Given the description of an element on the screen output the (x, y) to click on. 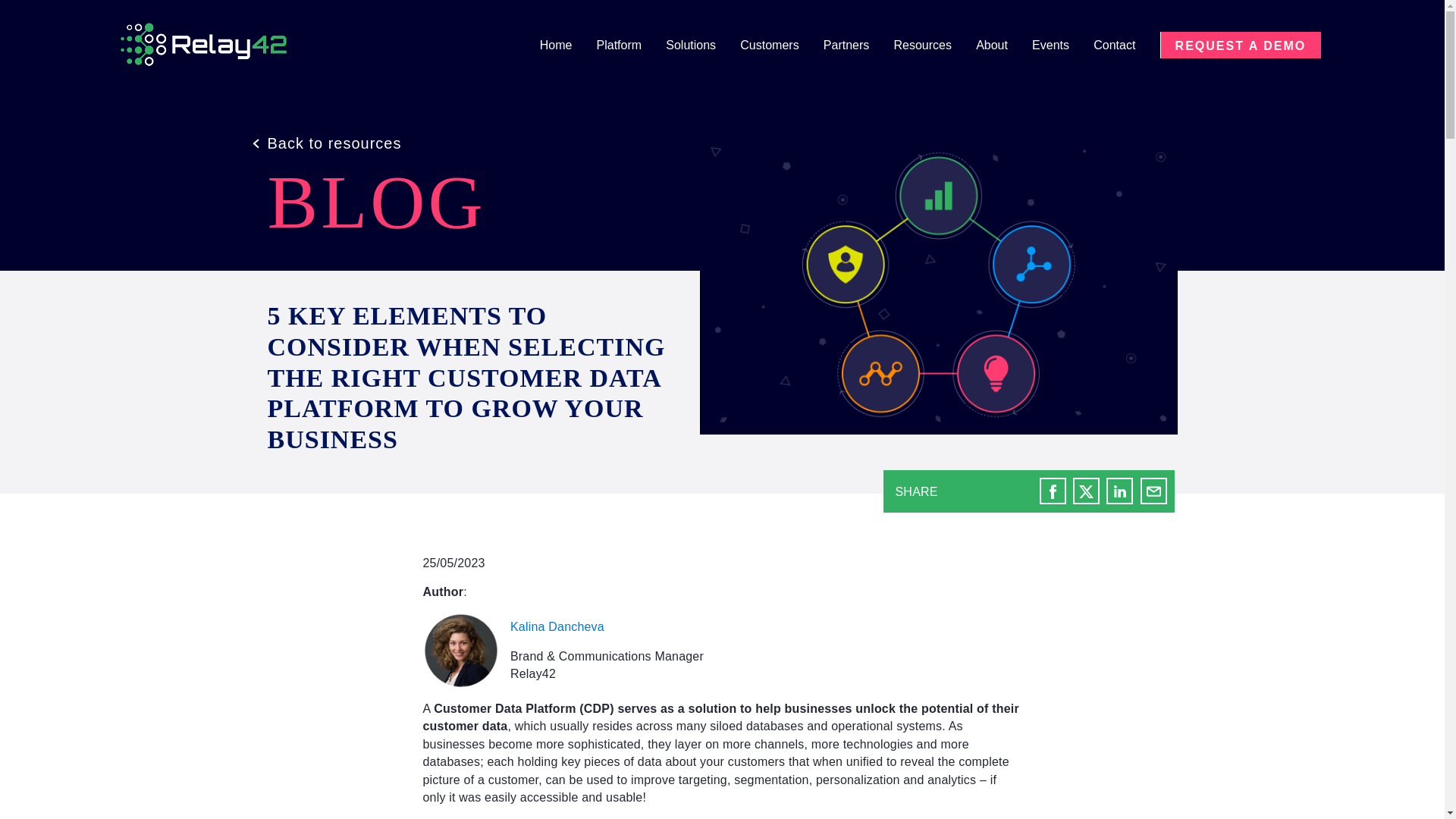
Share on Facebook (1052, 490)
Customers (779, 45)
Solutions (700, 45)
Home (567, 45)
Events (1061, 45)
Share on LinkedIn (1119, 490)
Resources (932, 45)
Kalina Dancheva (557, 626)
REQUEST A DEMO (1241, 44)
About (1002, 45)
Back to resources (326, 143)
Platform (629, 45)
Contact (1124, 45)
Partners (856, 45)
Share on Twitter (1086, 490)
